Given the description of an element on the screen output the (x, y) to click on. 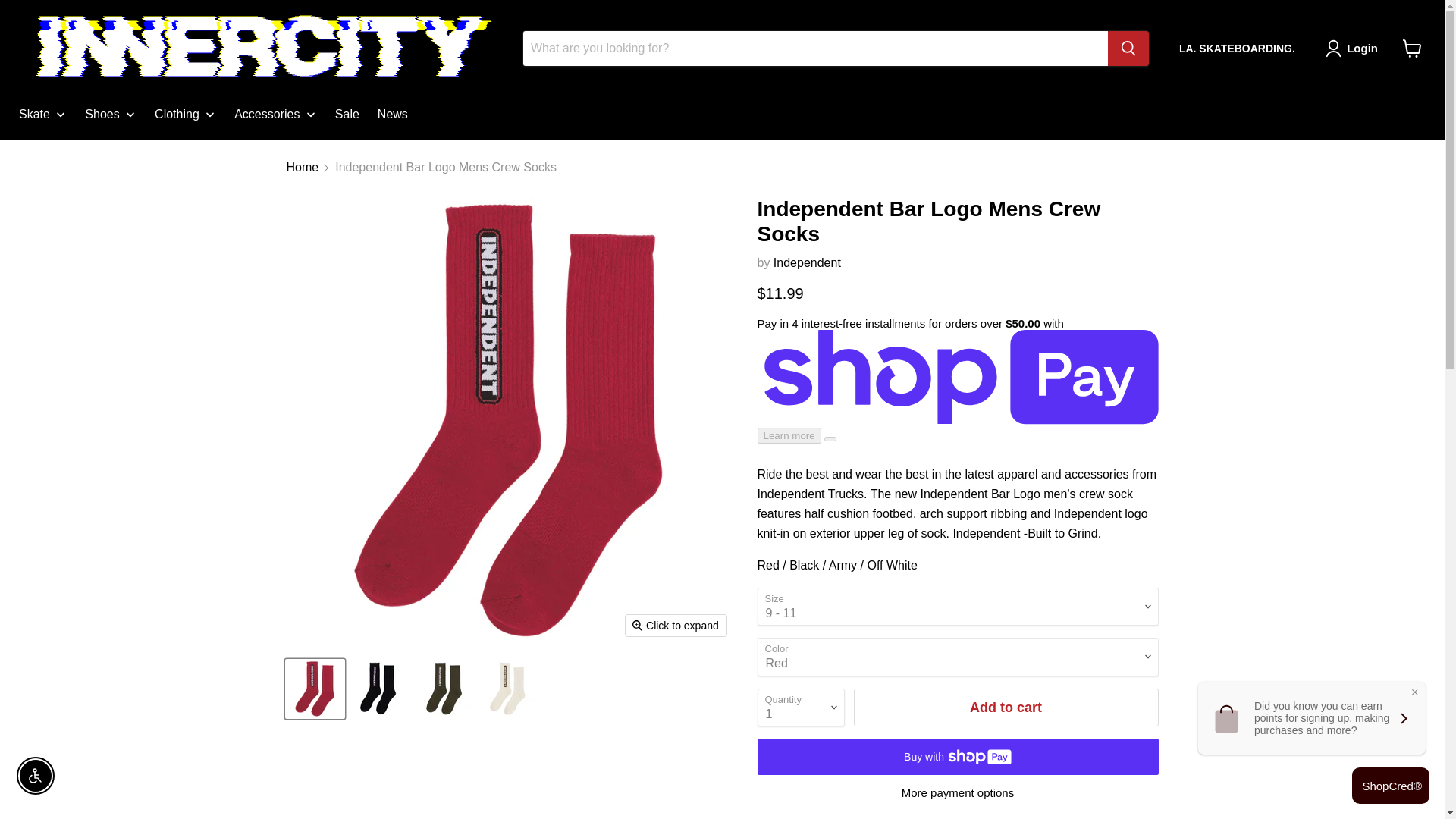
Shoes (110, 114)
Login (1362, 48)
Click to expand (676, 625)
Skate (42, 114)
View cart (1411, 48)
Independent (807, 262)
Sale (346, 114)
Accessories (275, 114)
News (392, 114)
Home (302, 167)
Clothing (184, 114)
